Given the description of an element on the screen output the (x, y) to click on. 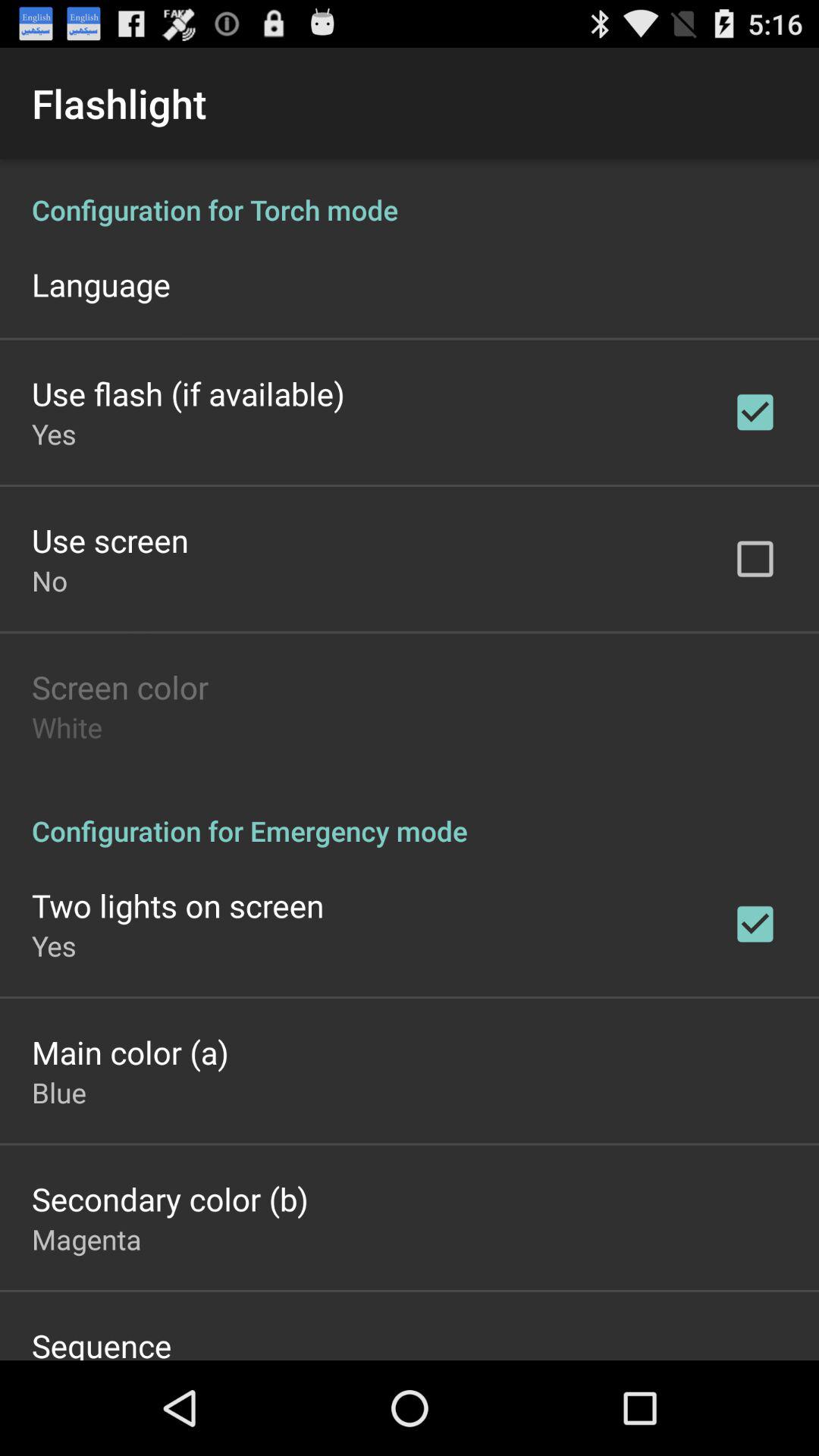
swipe until the no item (49, 580)
